Given the description of an element on the screen output the (x, y) to click on. 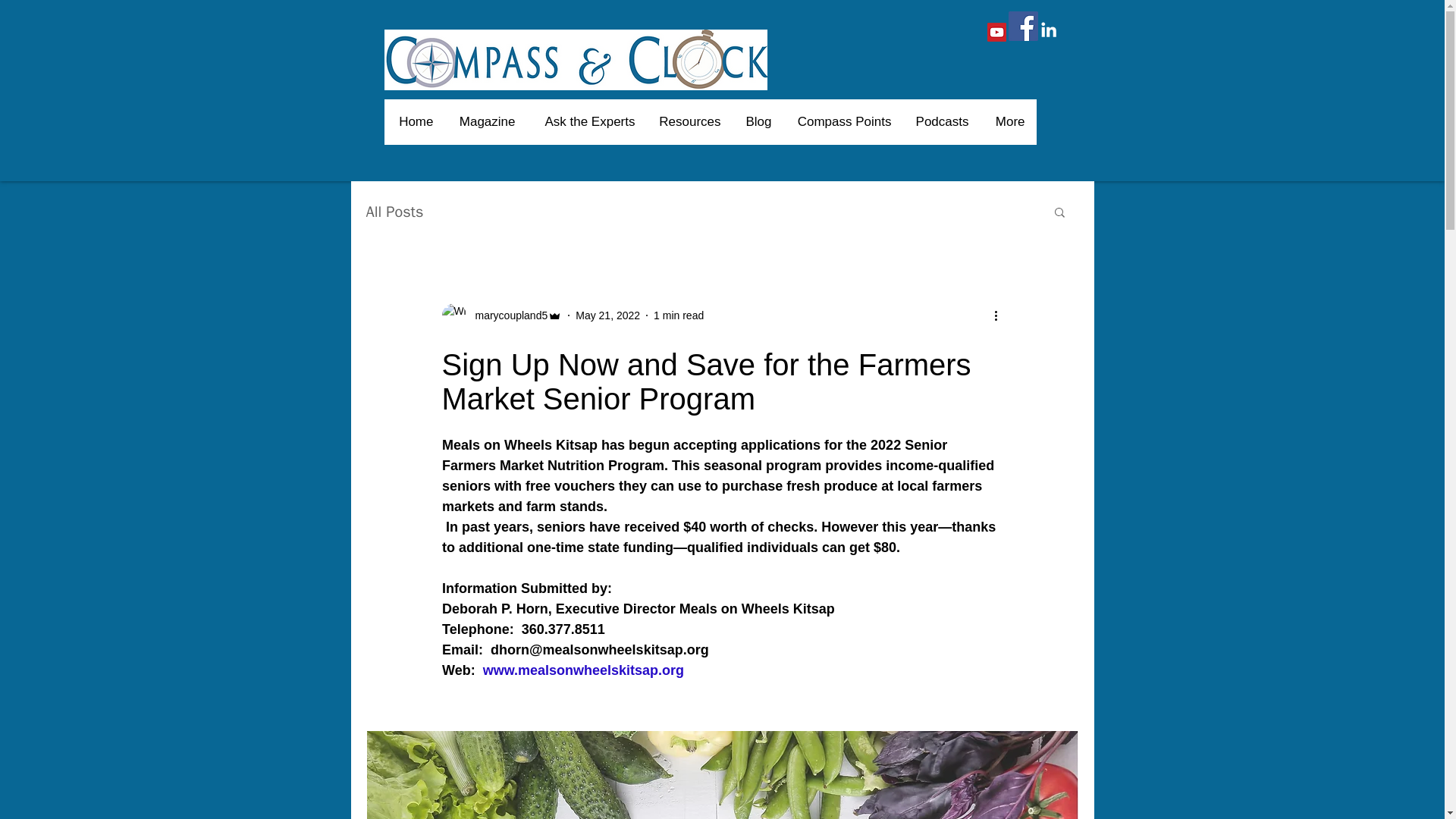
marycoupland5 (506, 315)
Ask the Experts (585, 121)
1 min read (678, 315)
Home (415, 121)
Compass Points (842, 121)
marycoupland5 (501, 315)
More (1007, 121)
Magazine (484, 121)
All Posts (394, 211)
Podcasts (940, 121)
www.mealsonwheelskitsap.org (581, 670)
May 21, 2022 (607, 315)
Blog (757, 121)
Resources (689, 121)
